Given the description of an element on the screen output the (x, y) to click on. 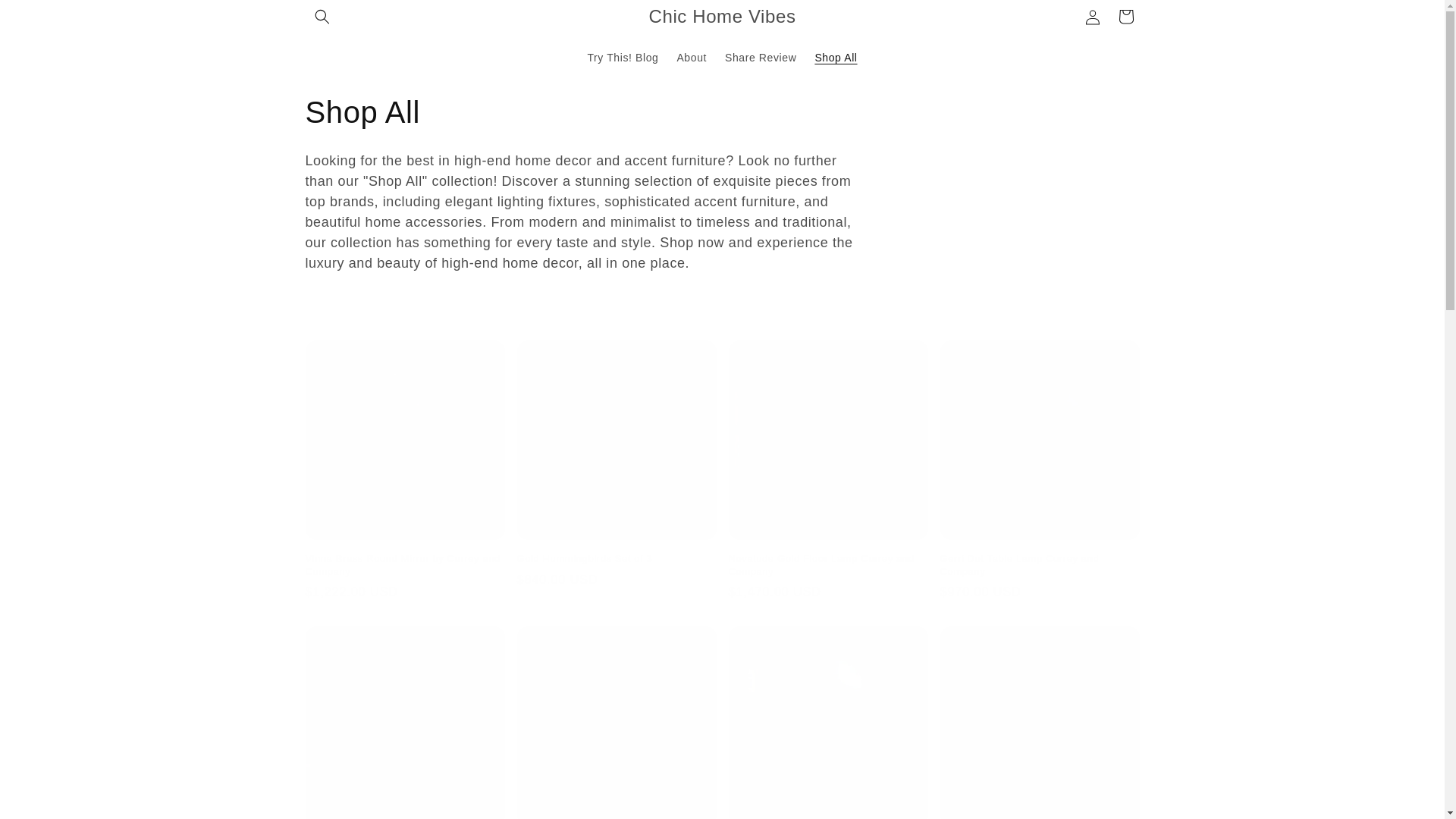
Share Review (760, 56)
Cart (1124, 16)
Skip to content (45, 17)
Chic Home Vibes (722, 16)
About (691, 56)
Gold Hummingbirds Set of 3 (616, 558)
Try This! Blog (622, 56)
Vinna Brass Round Mirror by Currey and Company (403, 565)
Log in (1091, 16)
Novatude Gold Floor Lamp Currey and Company (827, 565)
Shop All (835, 56)
Gerri Dot Table Lamp Currey and Company (1040, 565)
